Given the description of an element on the screen output the (x, y) to click on. 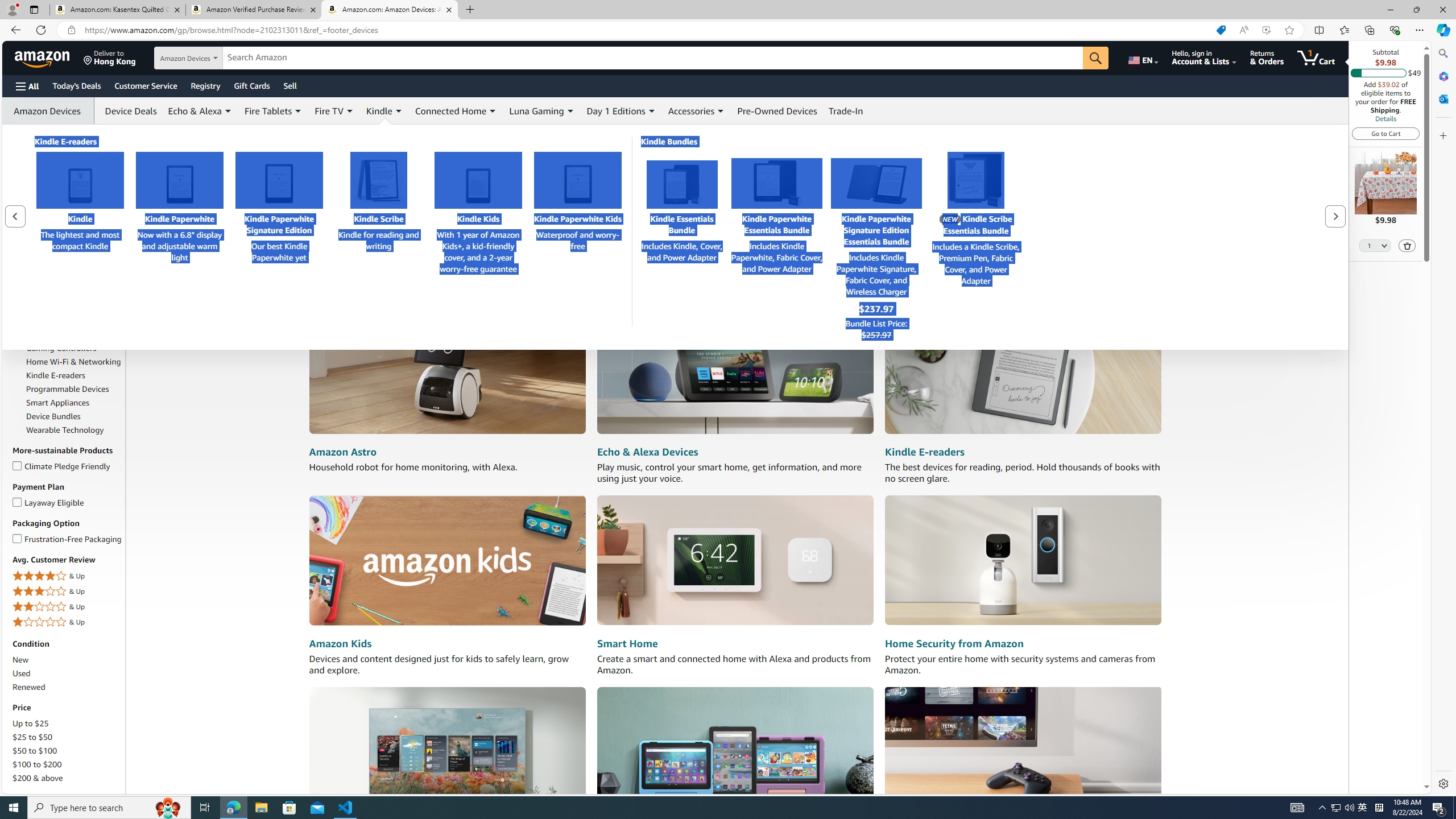
Amazon Luna (1022, 751)
Coming Soon (37, 181)
Amazon Verified Purchase Reviews - Amazon Customer Service (253, 9)
Amazon Devices (49, 110)
Kindle e-reader devices (1022, 369)
Kindle Paperwhite KidsWaterproof and worry-free (577, 236)
Kindle Scribe Essentials Bundle (975, 179)
Smart Home (627, 643)
Up to $25 (67, 722)
1 Star & Up (67, 621)
Kindle Paperwhite (179, 179)
